Given the description of an element on the screen output the (x, y) to click on. 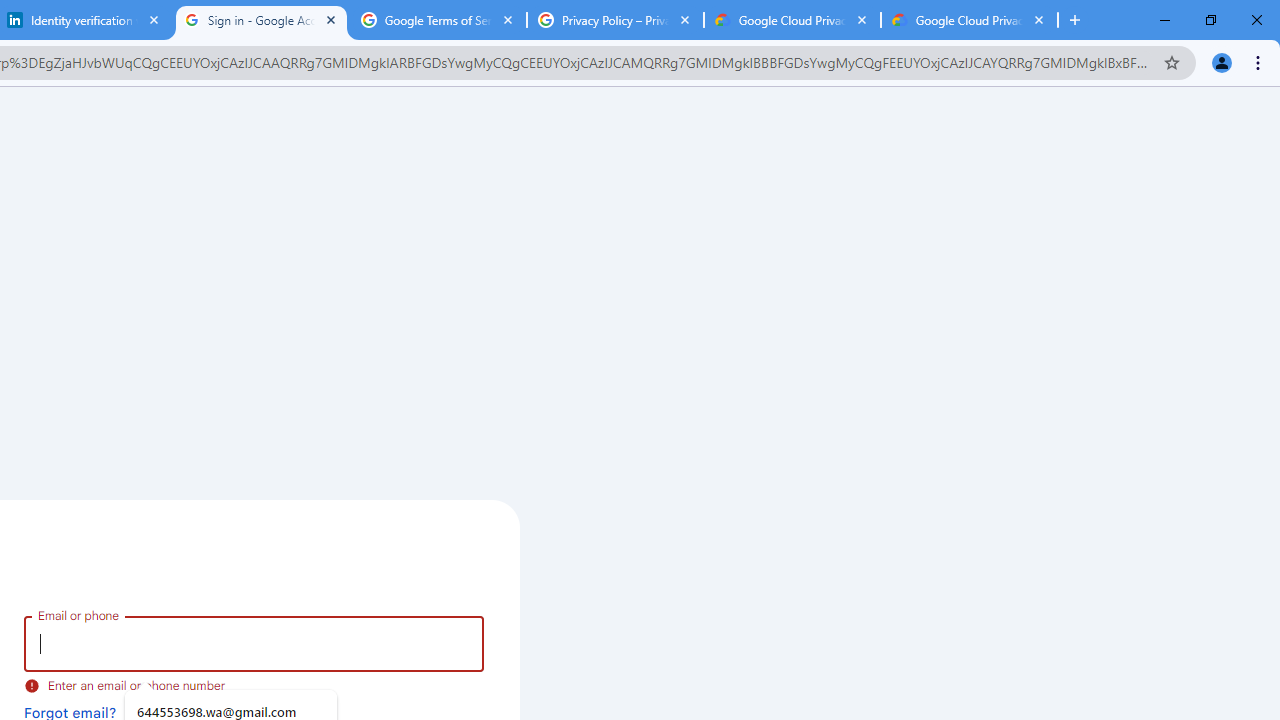
Sign in - Google Accounts (260, 20)
Email or phone (253, 643)
Google Cloud Privacy Notice (969, 20)
Google Cloud Privacy Notice (792, 20)
